Given the description of an element on the screen output the (x, y) to click on. 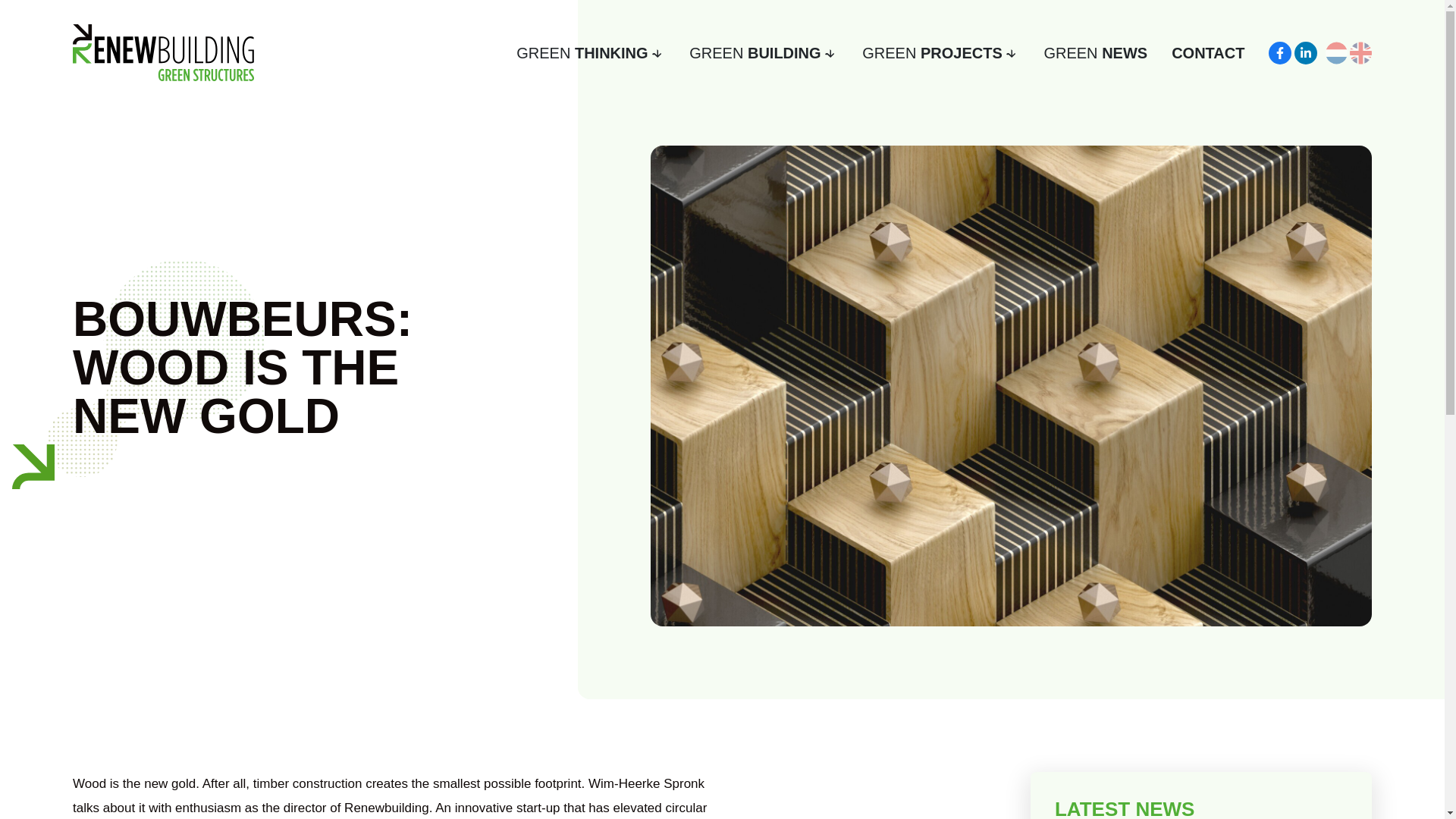
LATEST NEWS (1201, 807)
NEWS (1095, 52)
CONTACT (1208, 52)
BUILDING (763, 52)
PROJECTS (940, 52)
THINKING (590, 52)
